Given the description of an element on the screen output the (x, y) to click on. 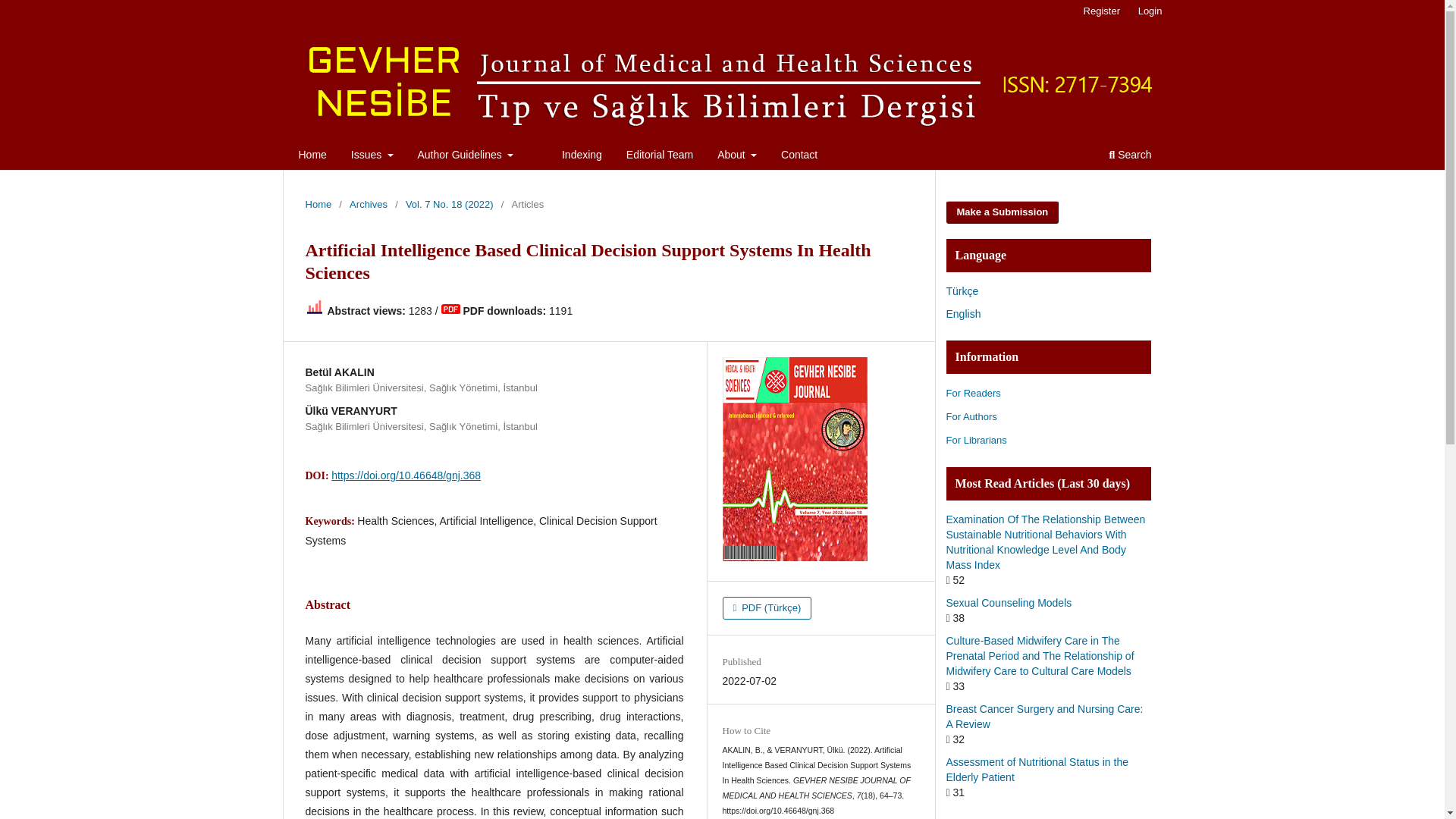
Search (1129, 156)
Home (317, 204)
Issues (372, 156)
Home (311, 156)
Login (1150, 11)
Editorial Team (659, 156)
Register (1100, 11)
Archives (368, 204)
Author Guidelines (465, 156)
Contact (799, 156)
About (736, 156)
Indexing (581, 156)
